Given the description of an element on the screen output the (x, y) to click on. 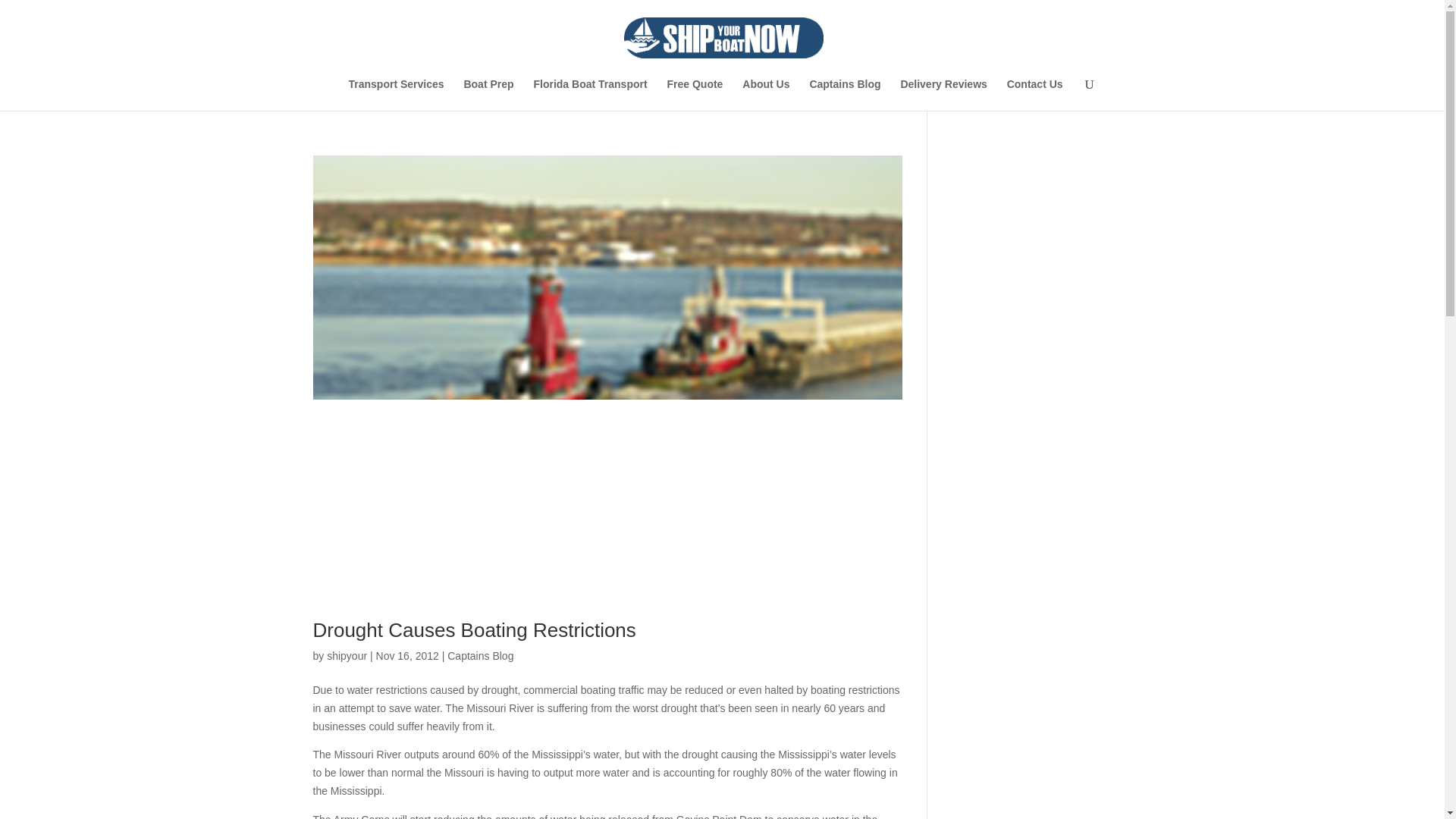
Posts by shipyour (346, 655)
Captains Blog (844, 94)
Captains Blog (479, 655)
Drought Causes Boating Restrictions (473, 630)
Transport Services (396, 94)
Boat Prep (488, 94)
shipyour (346, 655)
About Us (765, 94)
Contact Us (1034, 94)
Florida Boat Transport (589, 94)
Delivery Reviews (943, 94)
Free Quote (694, 94)
